Given the description of an element on the screen output the (x, y) to click on. 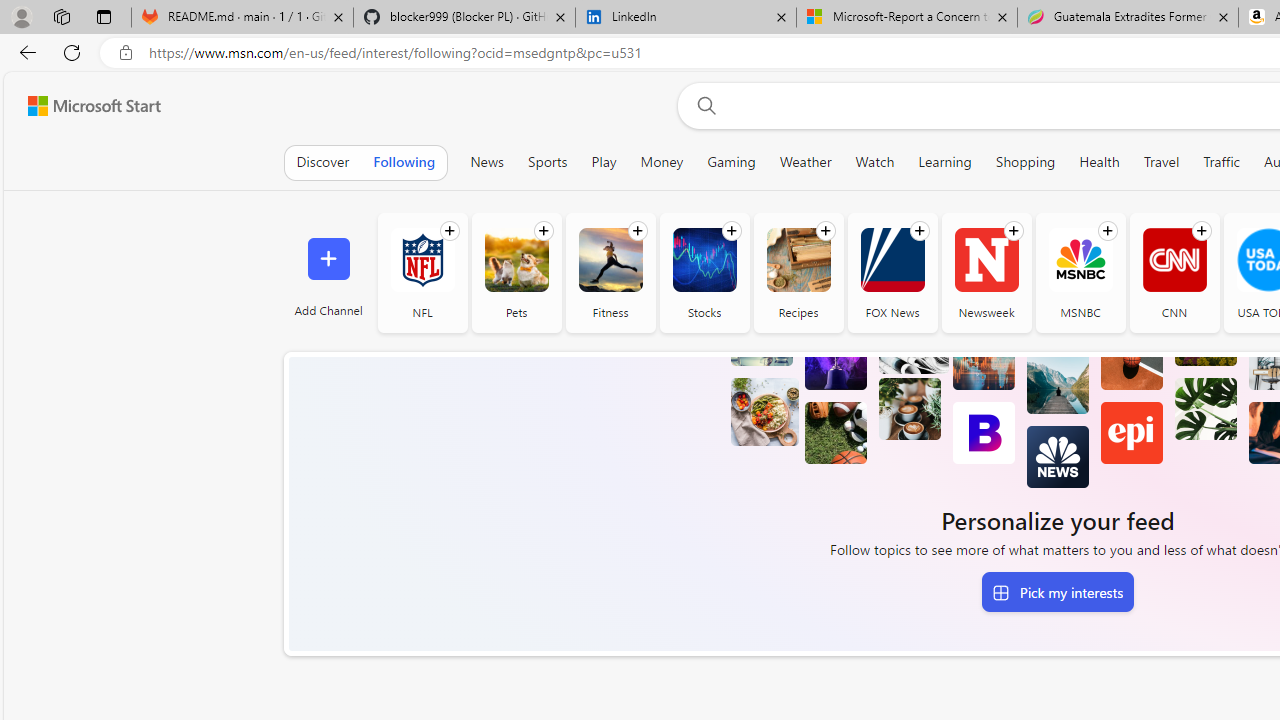
Traffic (1221, 162)
